Given the description of an element on the screen output the (x, y) to click on. 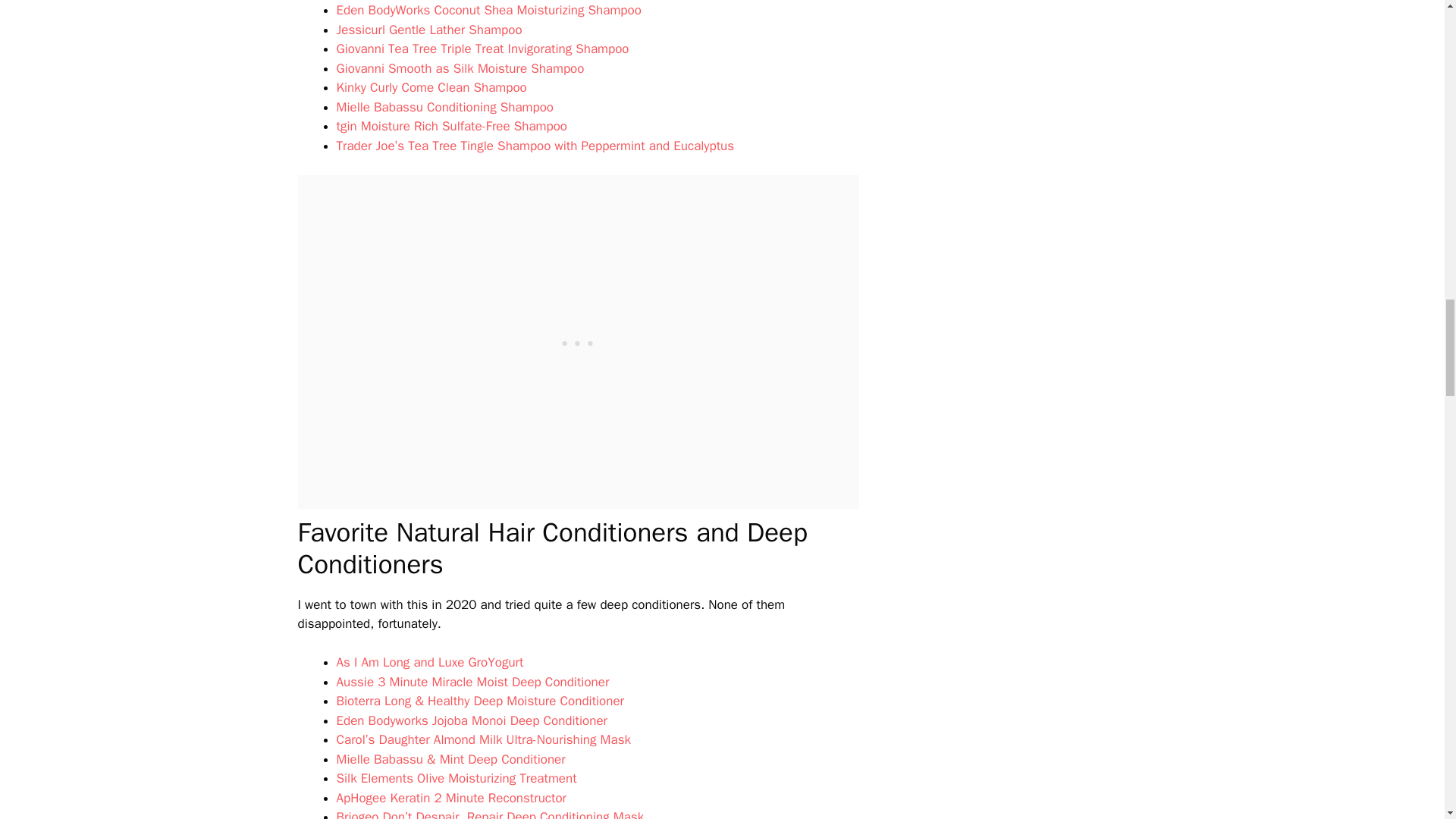
Aussie 3 Minute Miracle Moist Deep Conditioner (473, 682)
Eden BodyWorks Coconut Shea Moisturizing Shampoo (489, 10)
Mielle Babassu Conditioning Shampoo (445, 107)
Eden Bodyworks Jojoba Monoi Deep Conditioner (471, 720)
As I Am Long and Luxe GroYogurt (430, 662)
tgin Moisture Rich Sulfate-Free Shampoo (451, 125)
Giovanni Tea Tree Triple Treat Invigorating Shampoo (482, 48)
Giovanni Smooth as Silk Moisture Shampoo (460, 68)
Kinky Curly Come Clean Shampoo (431, 87)
Jessicurl Gentle Lather Shampoo (429, 29)
